Given the description of an element on the screen output the (x, y) to click on. 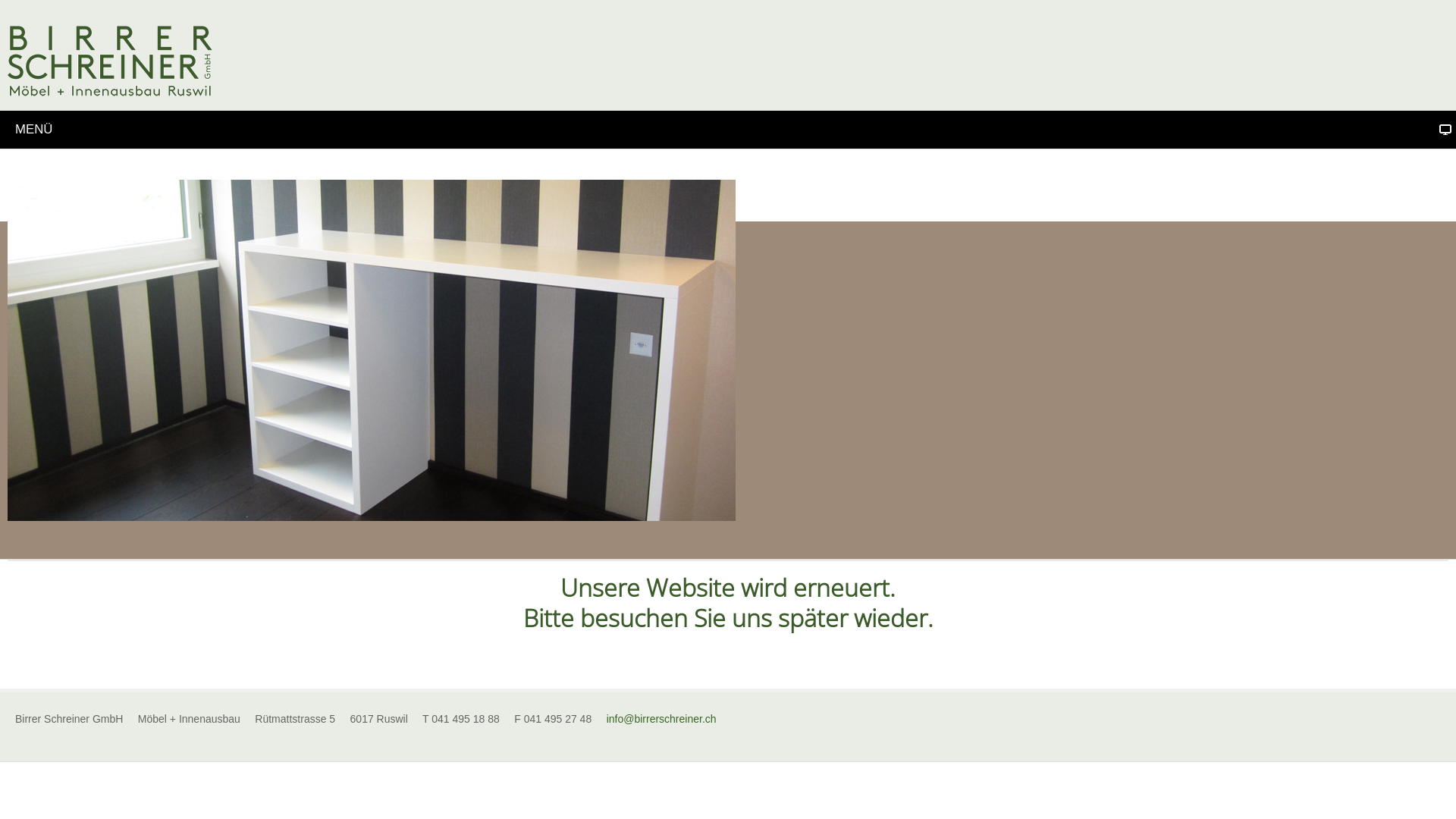
info@birrerschreiner.ch Element type: text (661, 718)
